Given the description of an element on the screen output the (x, y) to click on. 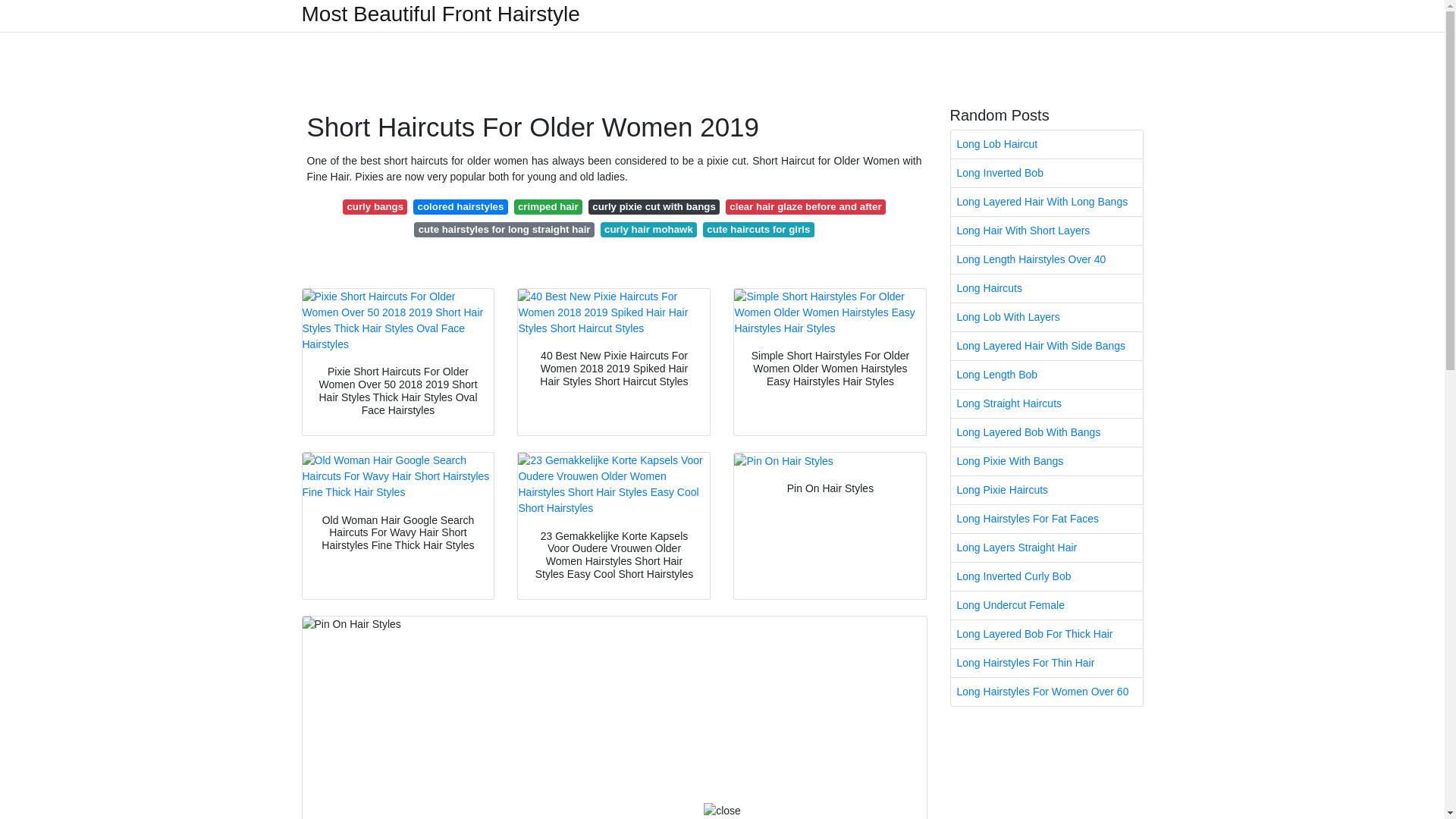
Long Hairstyles For Women Over 60 (1046, 691)
Long Length Hairstyles Over 40 (1046, 259)
clear hair glaze before and after (805, 206)
Long Undercut Female (1046, 605)
curly bangs (374, 206)
Long Length Bob (1046, 375)
Long Hair With Short Layers (1046, 230)
Long Straight Haircuts (1046, 403)
Long Layered Bob With Bangs (1046, 432)
cute hairstyles for long straight hair (503, 229)
